Given the description of an element on the screen output the (x, y) to click on. 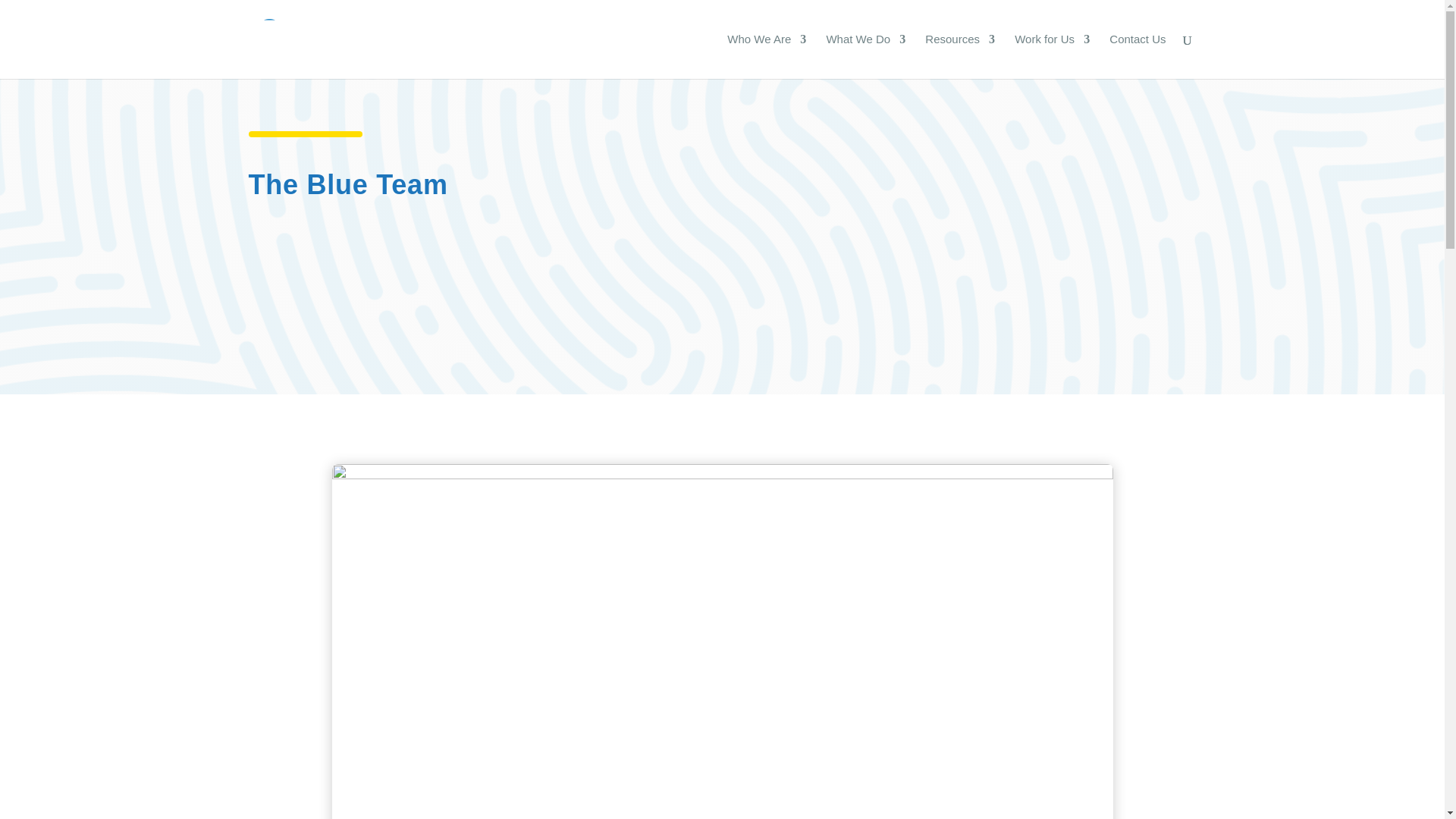
Resources (959, 56)
What We Do (865, 56)
Contact Us (1137, 56)
Work for Us (1051, 56)
Who We Are (766, 56)
